Given the description of an element on the screen output the (x, y) to click on. 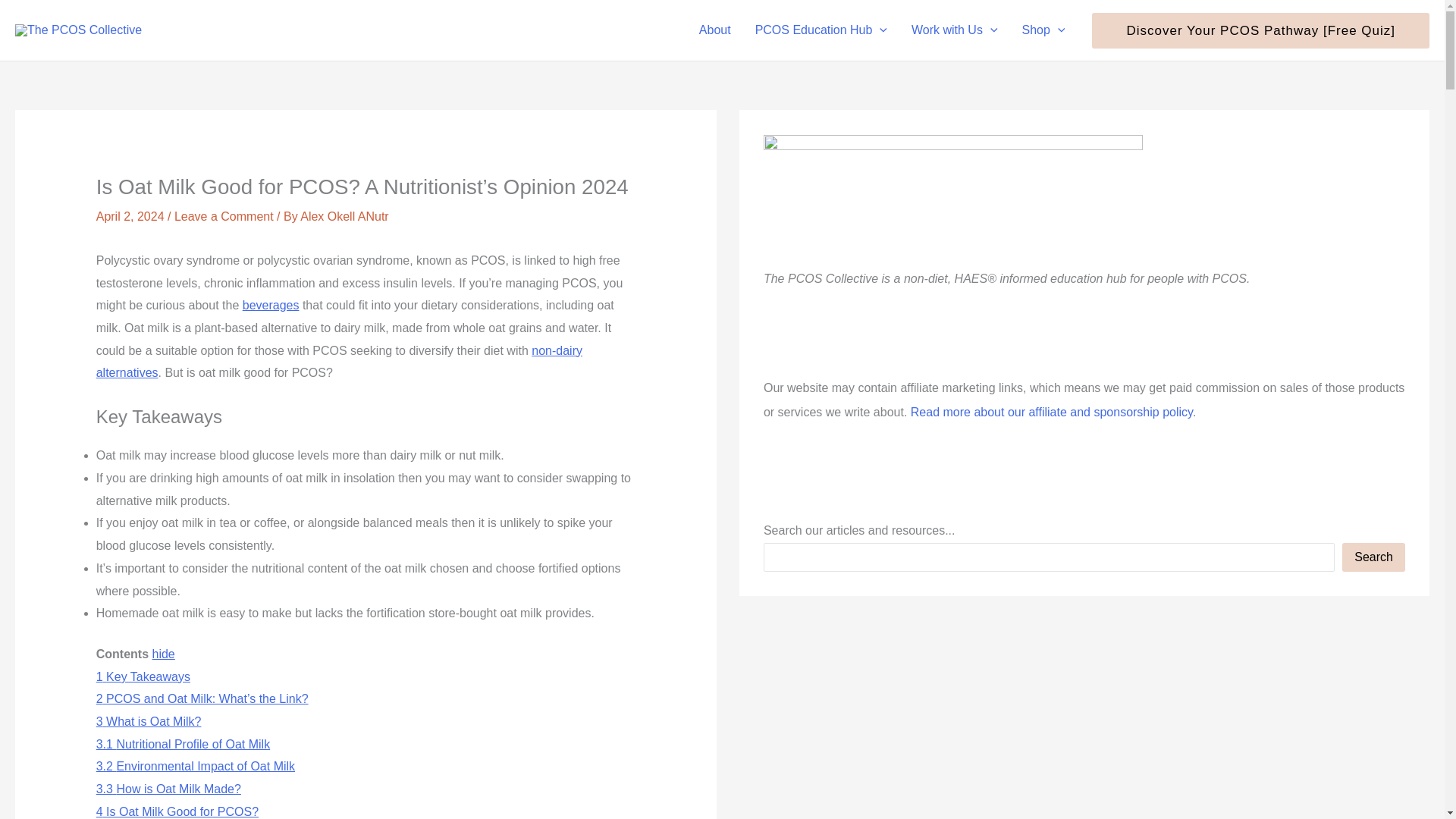
View all posts by Alex Okell ANutr (343, 215)
Work with Us (954, 30)
Shop (1043, 30)
About (714, 30)
PCOS Education Hub (820, 30)
